Given the description of an element on the screen output the (x, y) to click on. 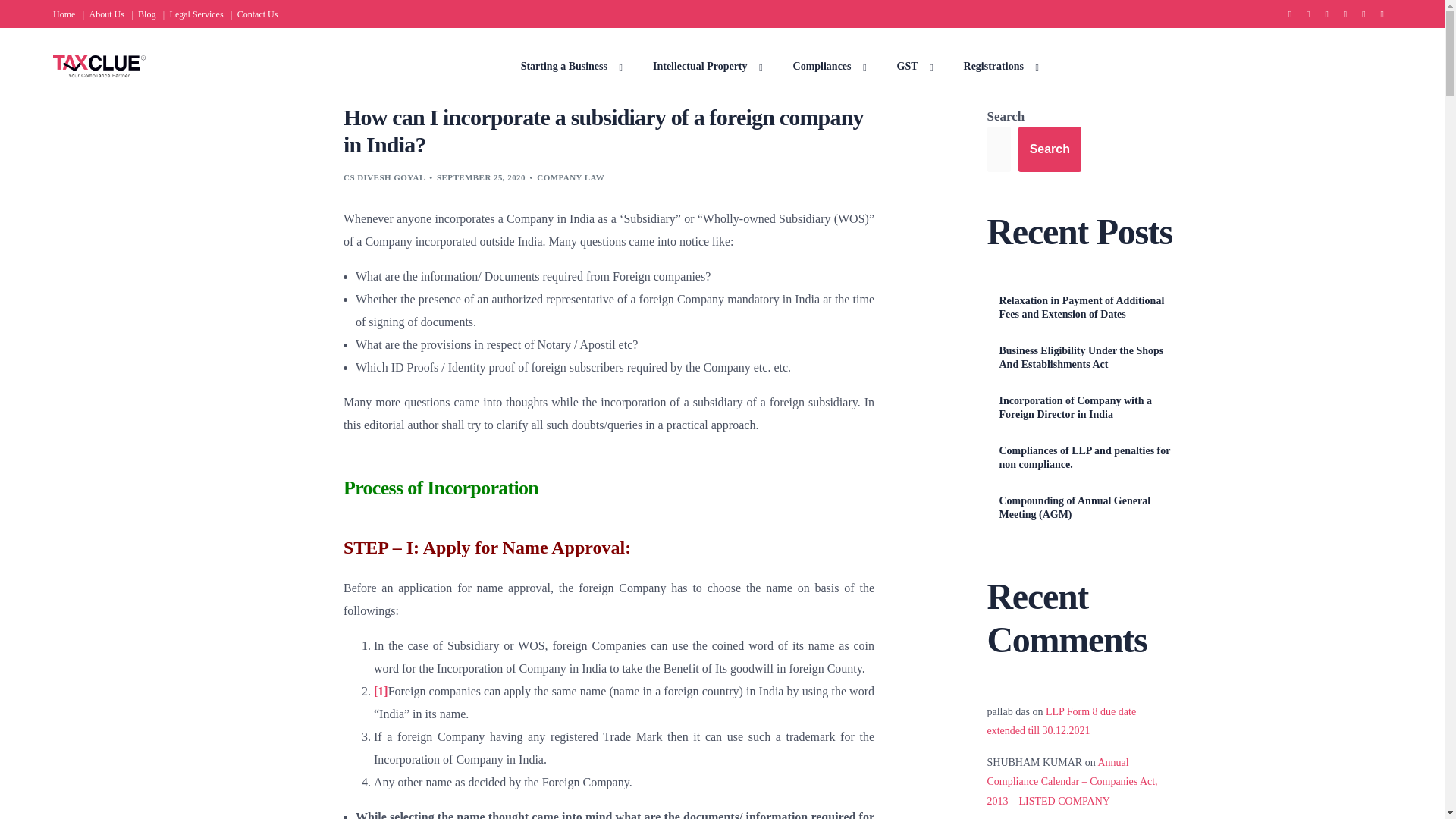
COMPANY LAW (570, 176)
Posts by CS Divesh Goyal (384, 176)
Home (66, 14)
Compliances (825, 65)
Registrations (996, 65)
About Us (106, 14)
Legal Services (196, 14)
Blog (146, 14)
Contact Us (256, 14)
Intellectual Property (703, 65)
Starting a Business (567, 65)
CS DIVESH GOYAL (384, 176)
